Given the description of an element on the screen output the (x, y) to click on. 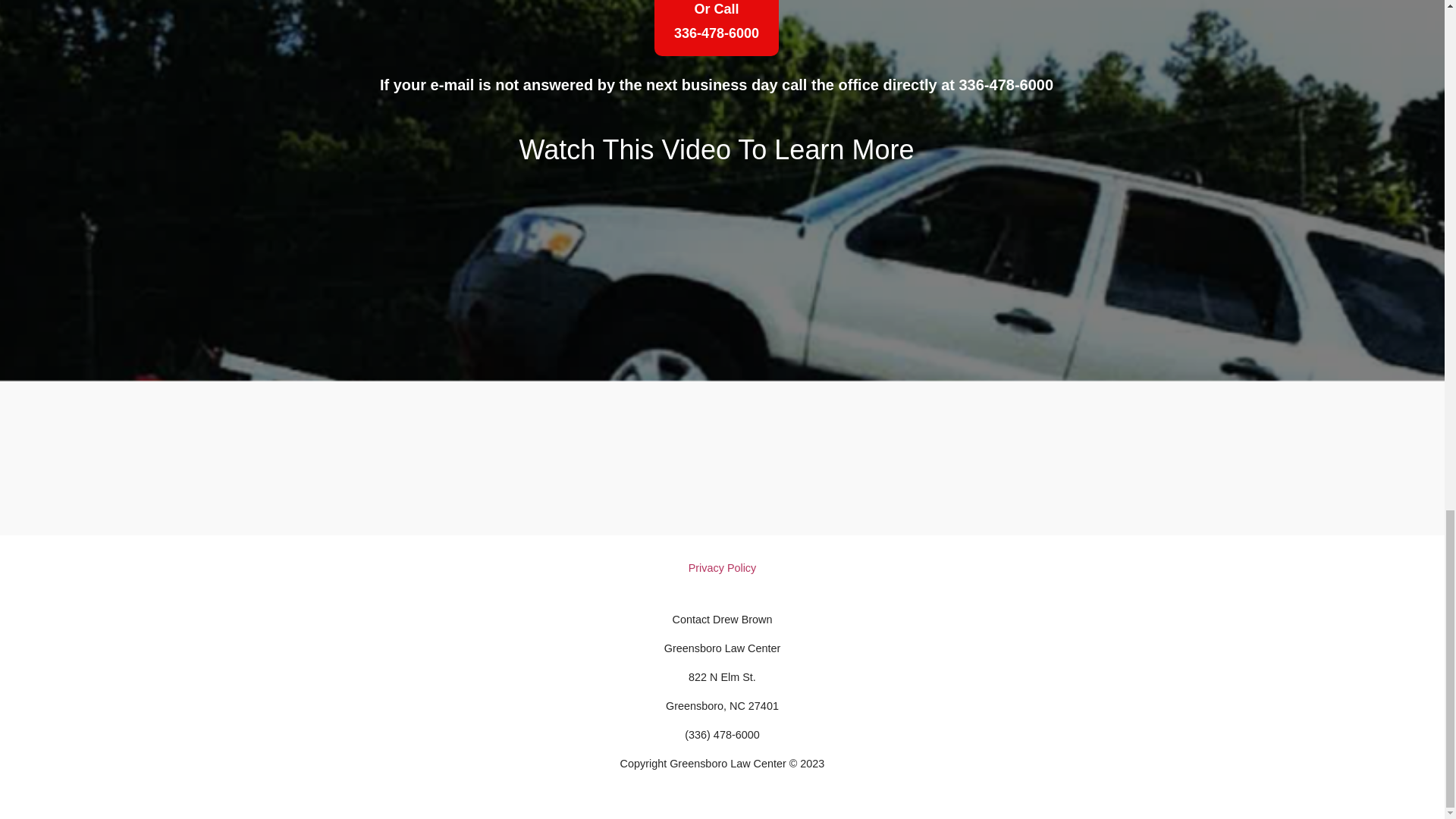
NC Title Loan Justice Center Drew Brown (715, 28)
